Given the description of an element on the screen output the (x, y) to click on. 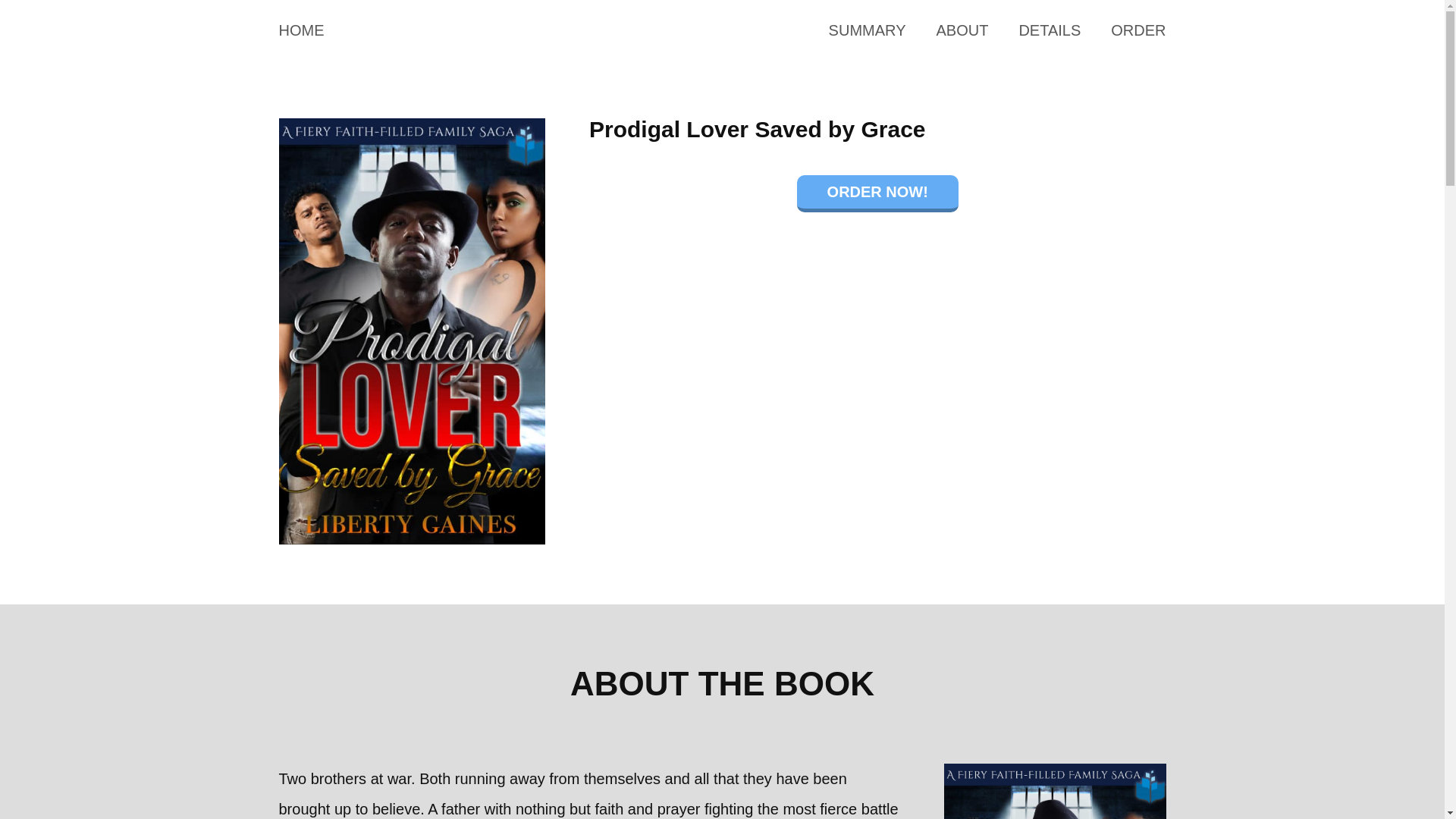
ORDER NOW! (877, 193)
ORDER (1138, 30)
DETAILS (1048, 30)
ABOUT (962, 30)
SUMMARY (866, 30)
HOME (301, 30)
